Given the description of an element on the screen output the (x, y) to click on. 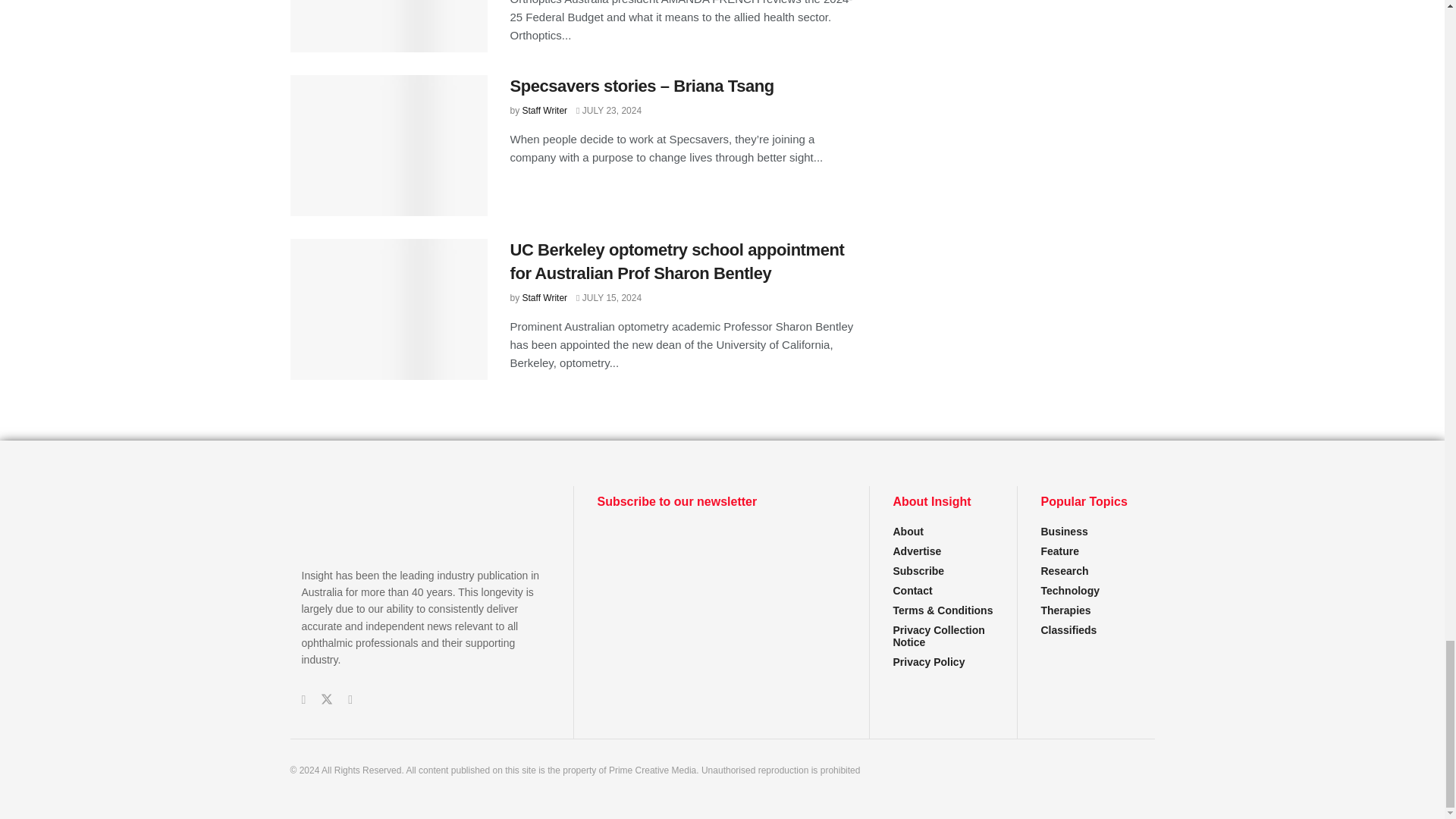
Newsletter signup for Footer (720, 582)
